Given the description of an element on the screen output the (x, y) to click on. 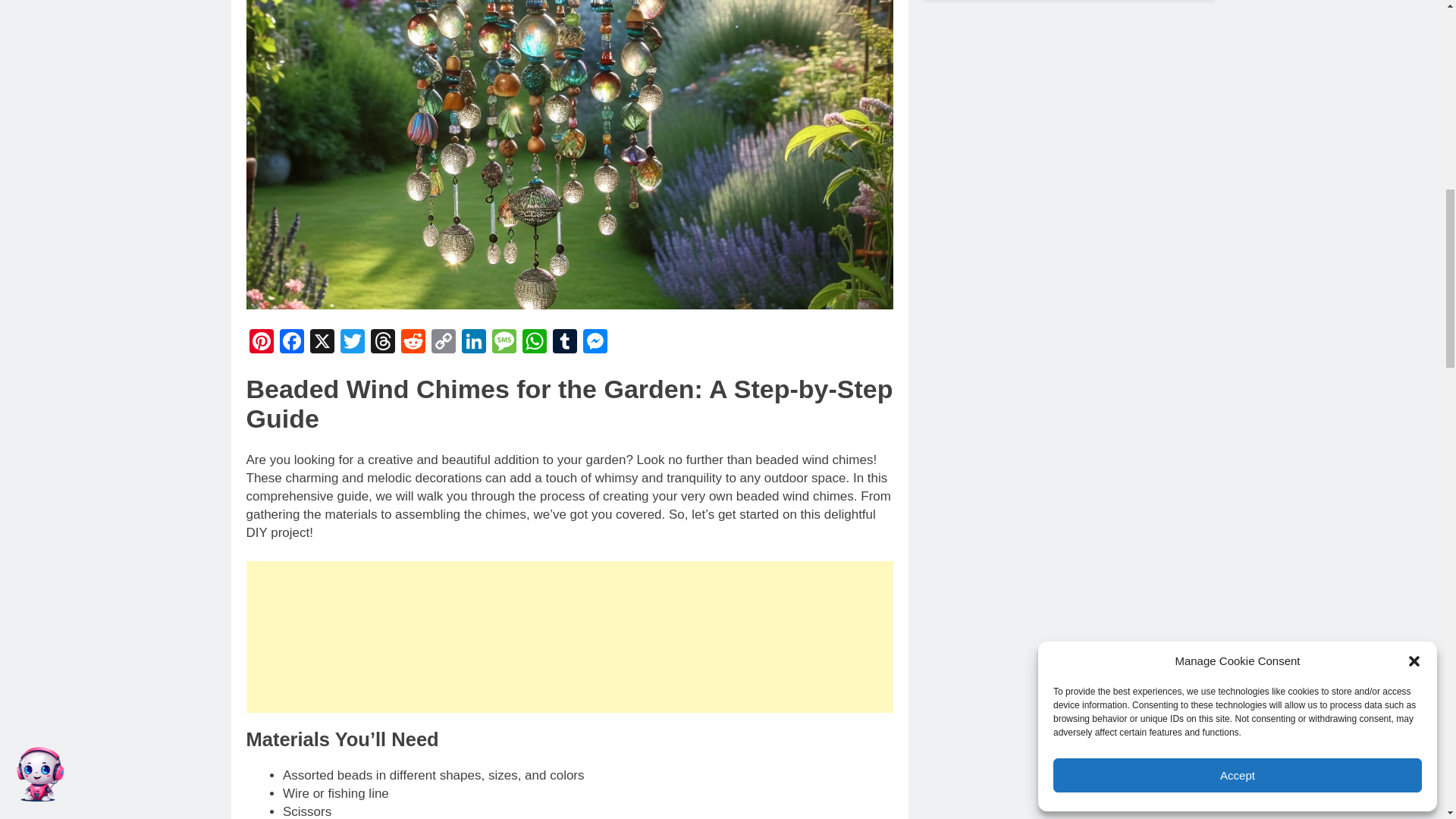
Advertisement (569, 636)
Pinterest (261, 343)
LinkedIn (472, 343)
Messenger (594, 343)
WhatsApp (533, 343)
Twitter (351, 343)
Message (502, 343)
Tumblr (563, 343)
X (320, 343)
Threads (381, 343)
Reddit (412, 343)
Copy Link (443, 343)
Facebook (290, 343)
